Given the description of an element on the screen output the (x, y) to click on. 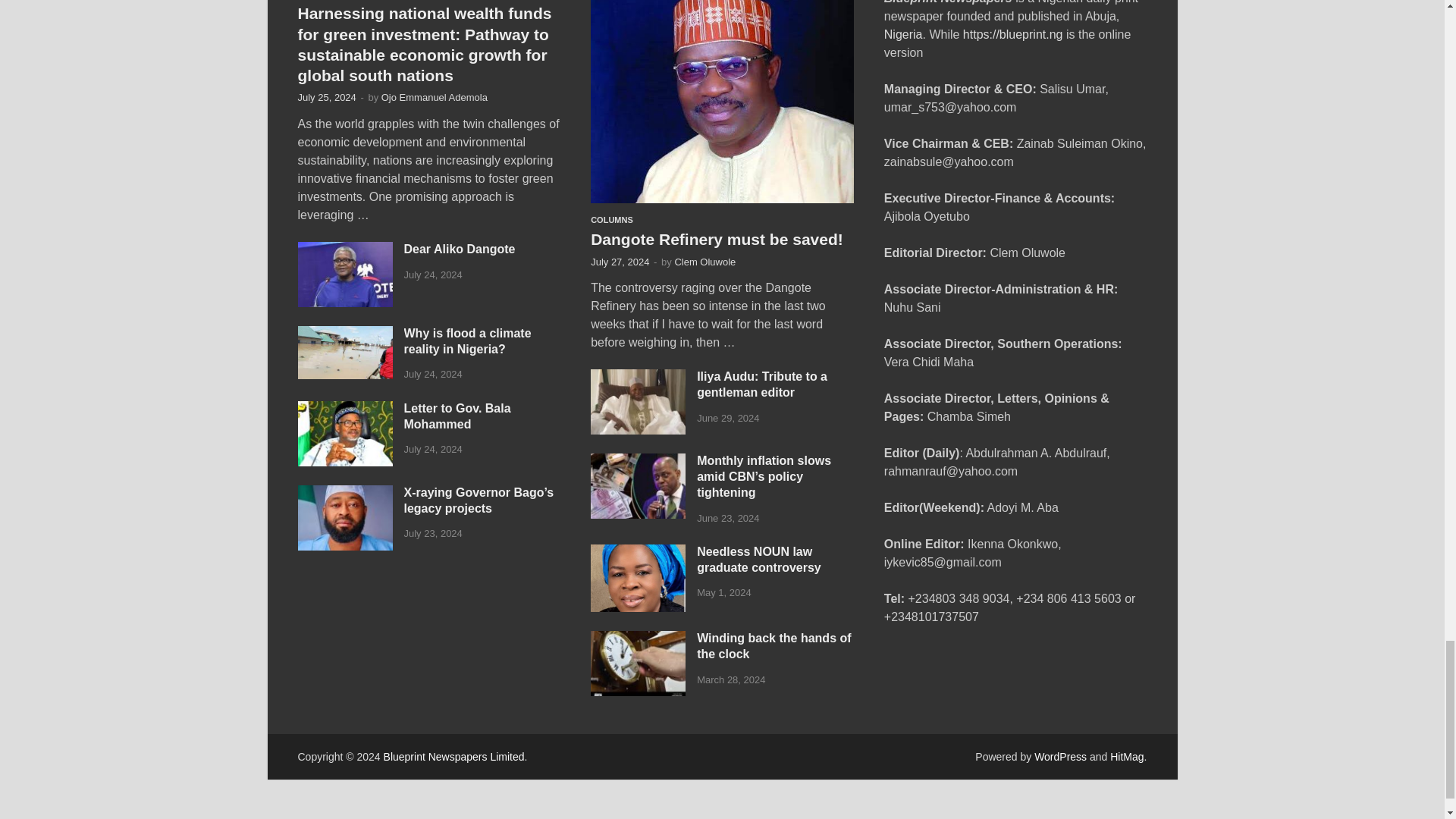
Why is flood a climate reality in Nigeria? (344, 334)
Dear Aliko Dangote (344, 250)
